Given the description of an element on the screen output the (x, y) to click on. 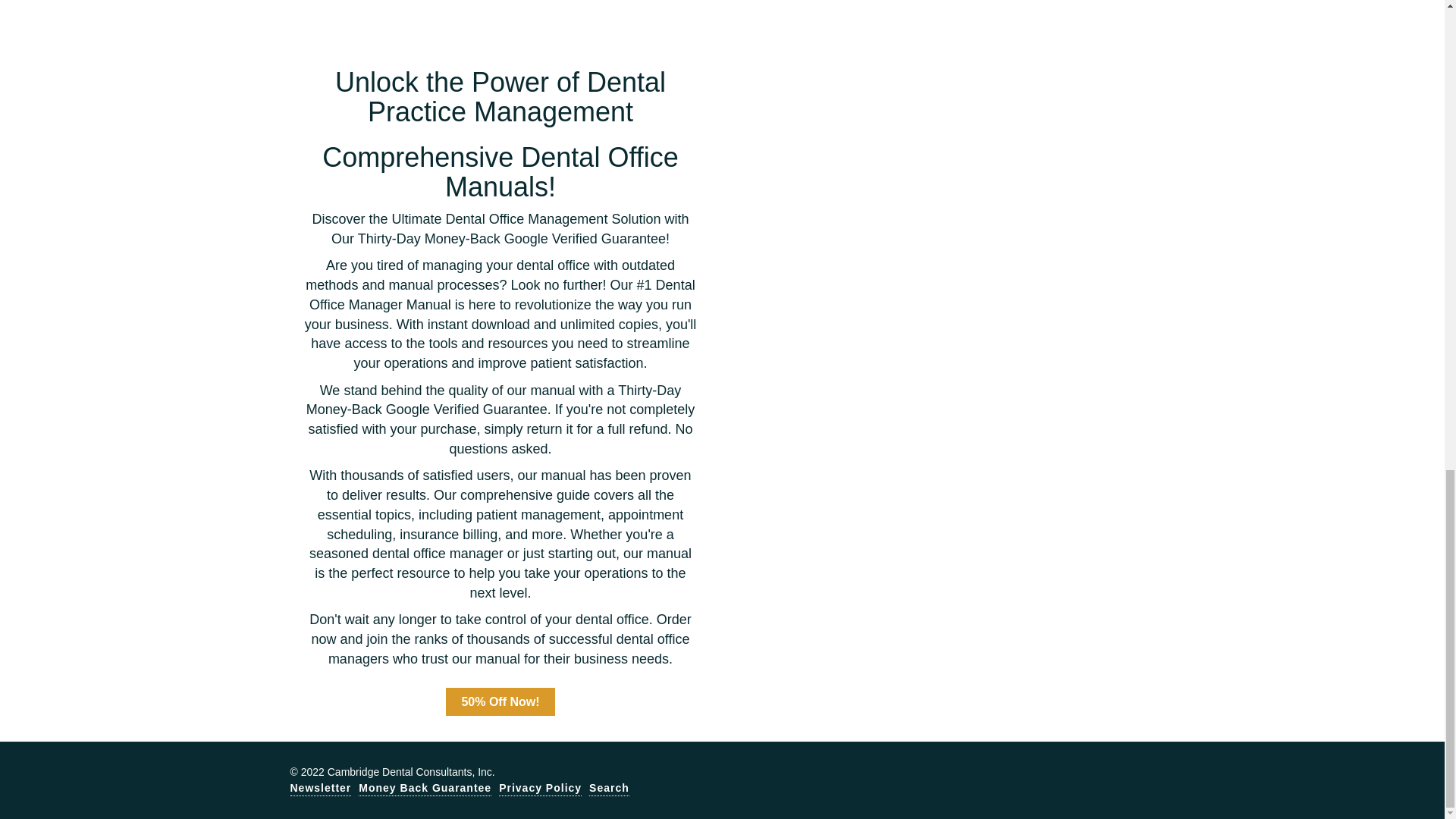
Search (608, 788)
Money Back Guarantee (425, 788)
Newsletter (319, 788)
Privacy Policy (539, 788)
